Given the description of an element on the screen output the (x, y) to click on. 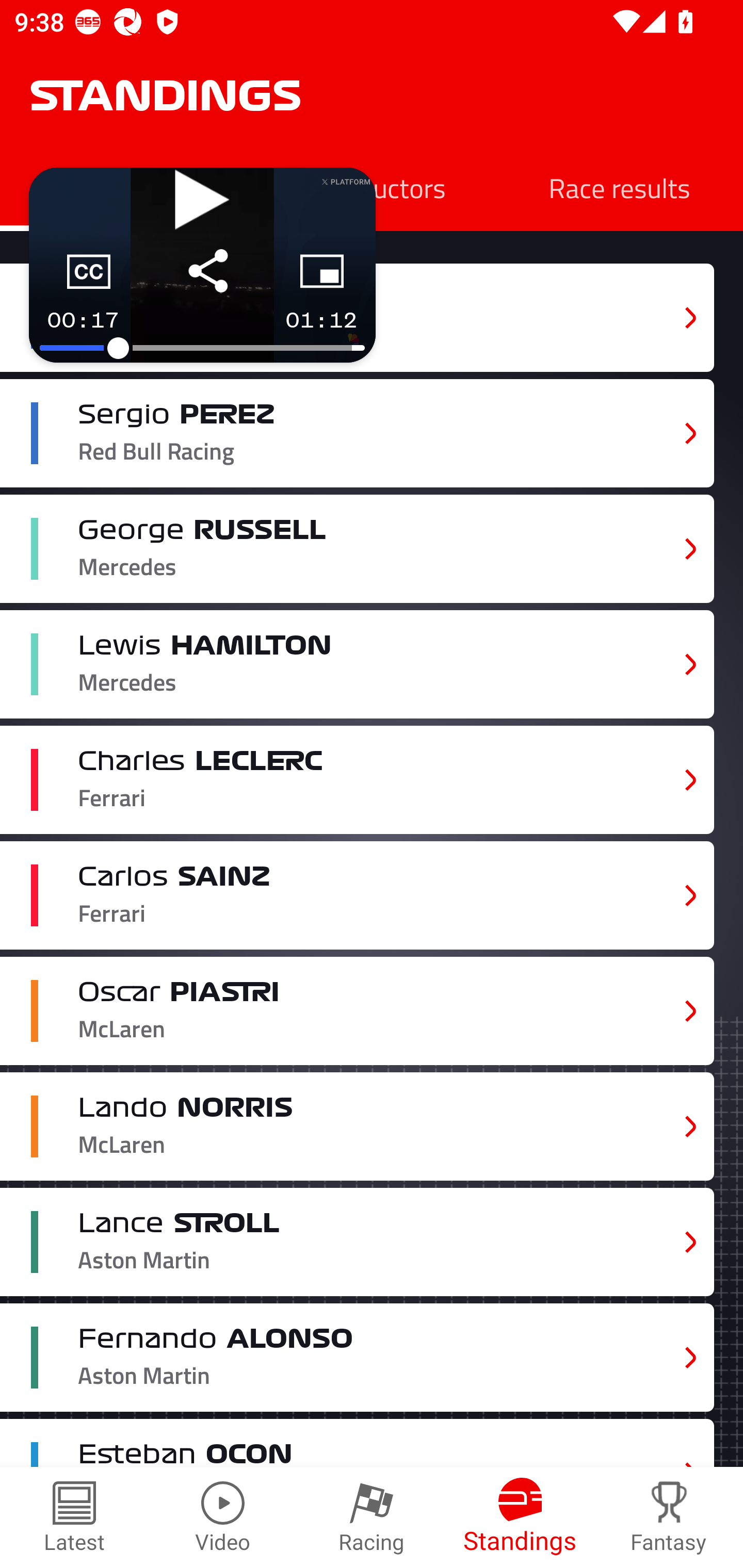
Race results (619, 187)
Sergio PEREZ Red Bull Racing (357, 433)
George RUSSELL Mercedes (357, 548)
Lewis HAMILTON Mercedes (357, 663)
Charles LECLERC Ferrari (357, 779)
Carlos SAINZ Ferrari (357, 896)
Oscar PIASTRI McLaren (357, 1010)
Lando NORRIS McLaren (357, 1126)
Lance STROLL Aston Martin (357, 1242)
Fernando ALONSO Aston Martin (357, 1357)
Latest (74, 1517)
Video (222, 1517)
Racing (371, 1517)
Fantasy (668, 1517)
